Given the description of an element on the screen output the (x, y) to click on. 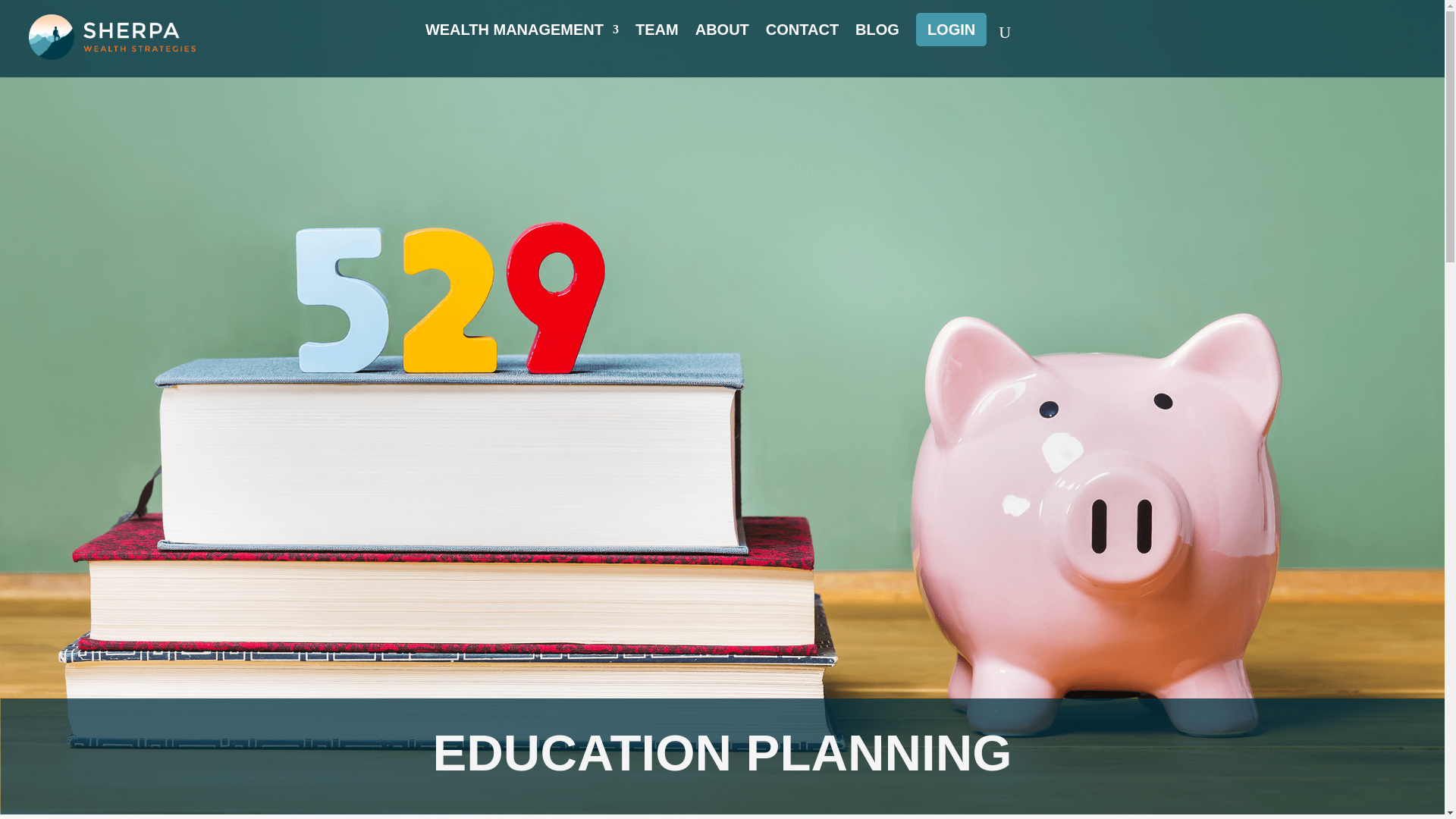
LOGIN (951, 29)
CONTACT (801, 34)
WEALTH MANAGEMENT (521, 34)
BLOG (877, 34)
TEAM (656, 34)
ABOUT (722, 34)
